Given the description of an element on the screen output the (x, y) to click on. 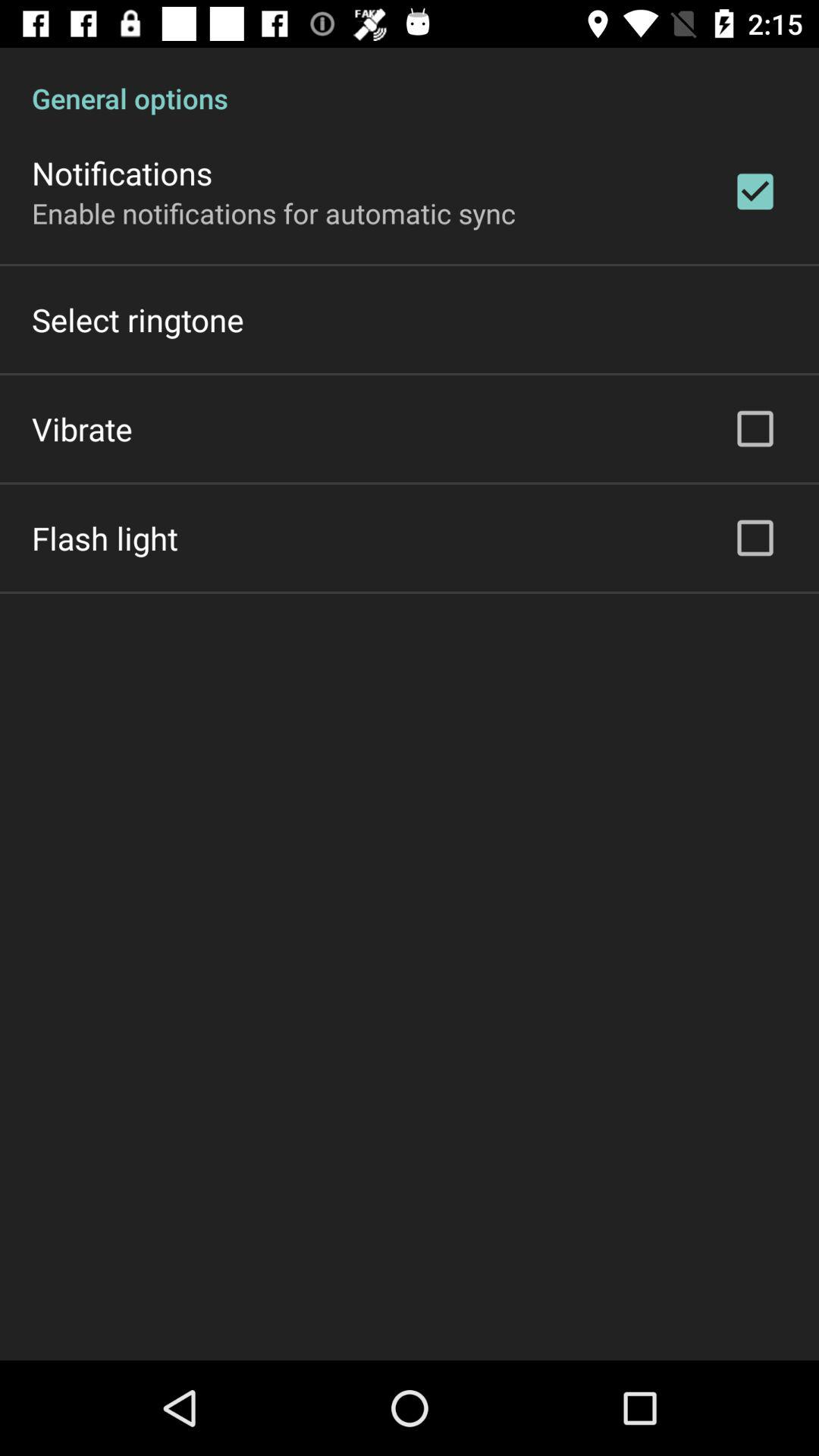
launch flash light (104, 537)
